Given the description of an element on the screen output the (x, y) to click on. 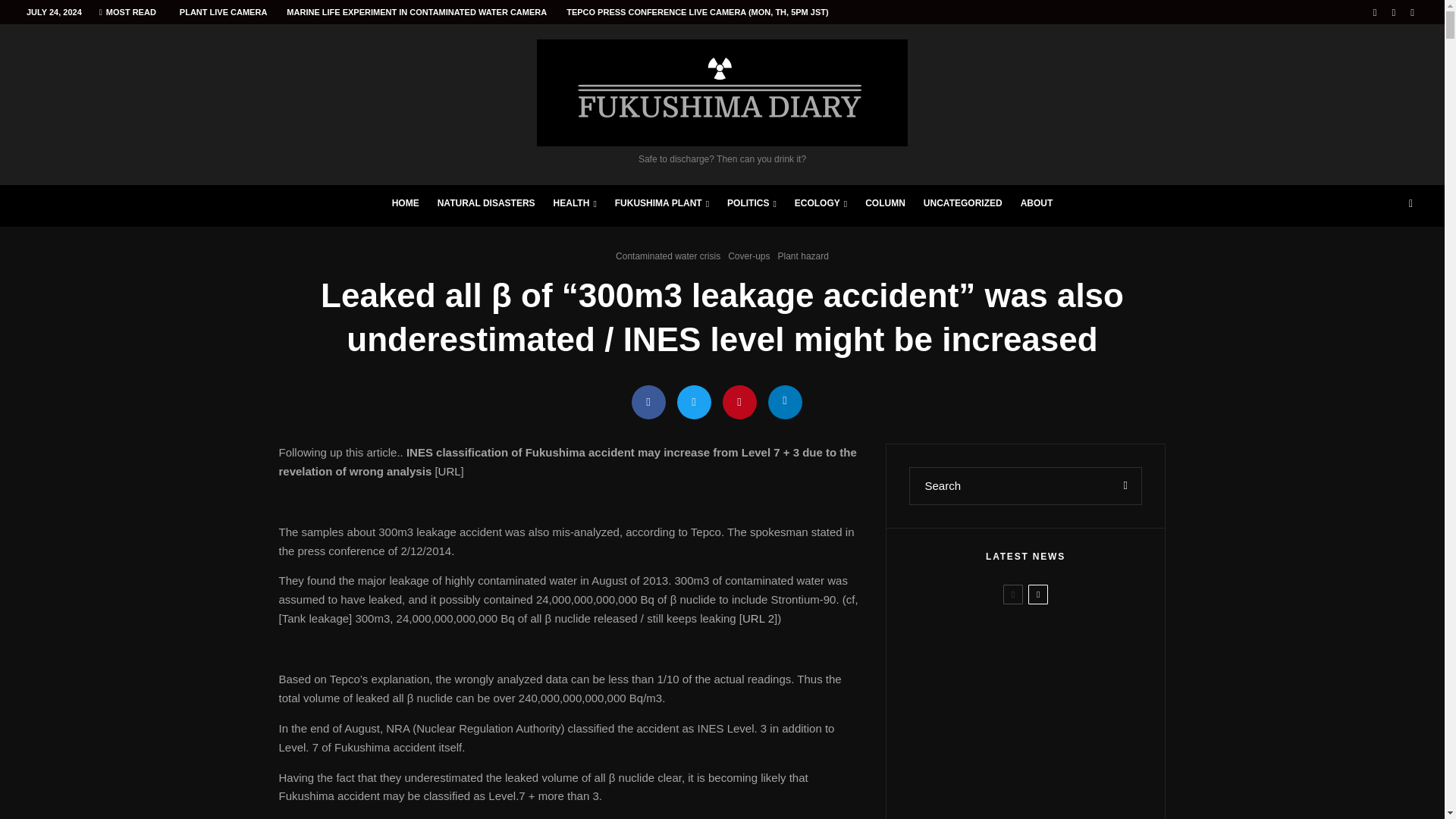
Safe to discharge? Then can you drink it? (722, 102)
NATURAL DISASTERS (486, 205)
MOST READ (126, 12)
PLANT LIVE CAMERA (224, 12)
HEALTH (574, 205)
HOME (405, 205)
MARINE LIFE EXPERIMENT IN CONTAMINATED WATER CAMERA (416, 12)
